Given the description of an element on the screen output the (x, y) to click on. 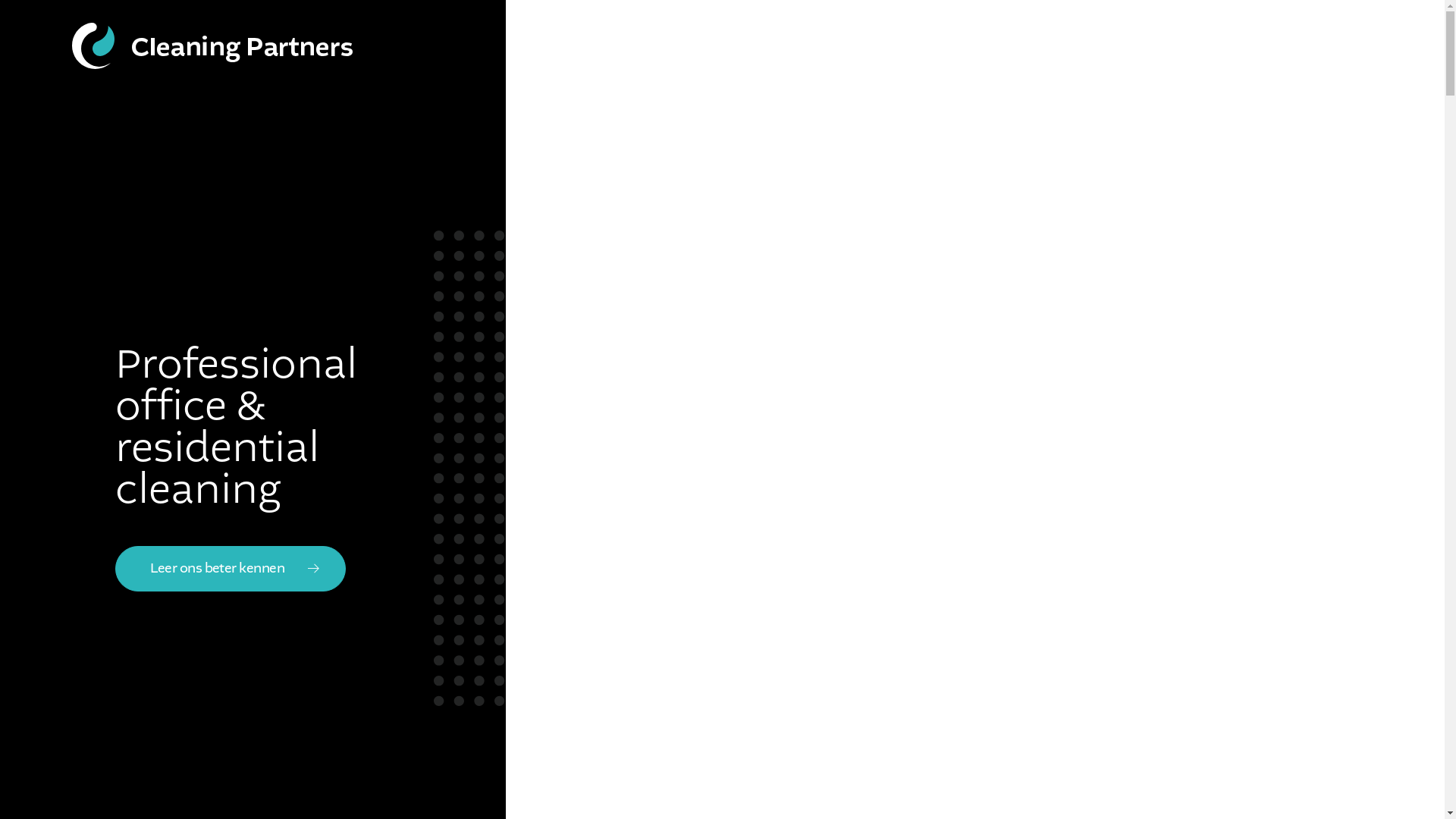
Over ons Element type: text (1074, 45)
Contact Element type: text (1166, 45)
Service Element type: text (986, 45)
+32 489 73 76 06 Element type: text (1302, 45)
